Given the description of an element on the screen output the (x, y) to click on. 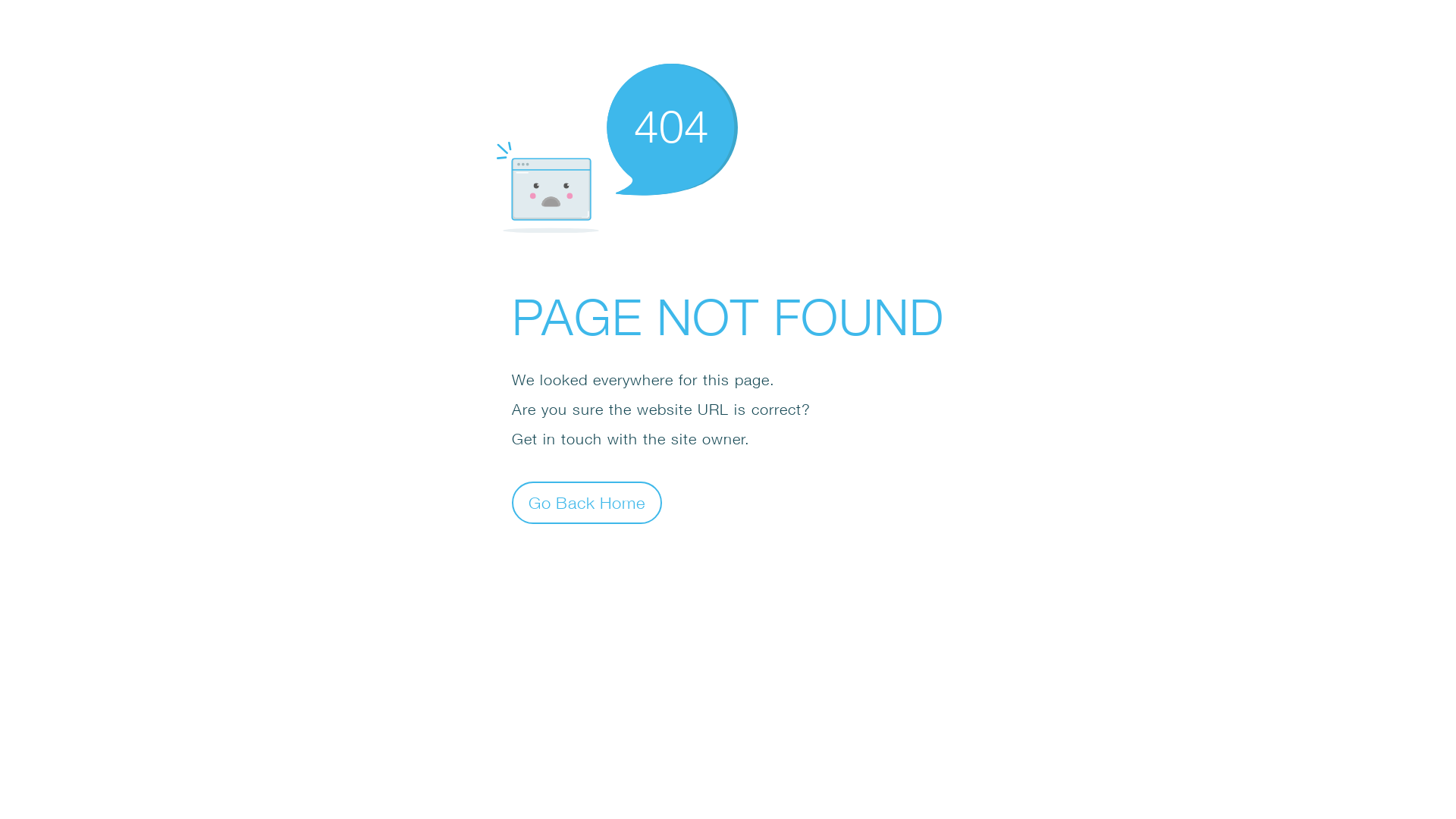
Go Back Home Element type: text (586, 502)
